Given the description of an element on the screen output the (x, y) to click on. 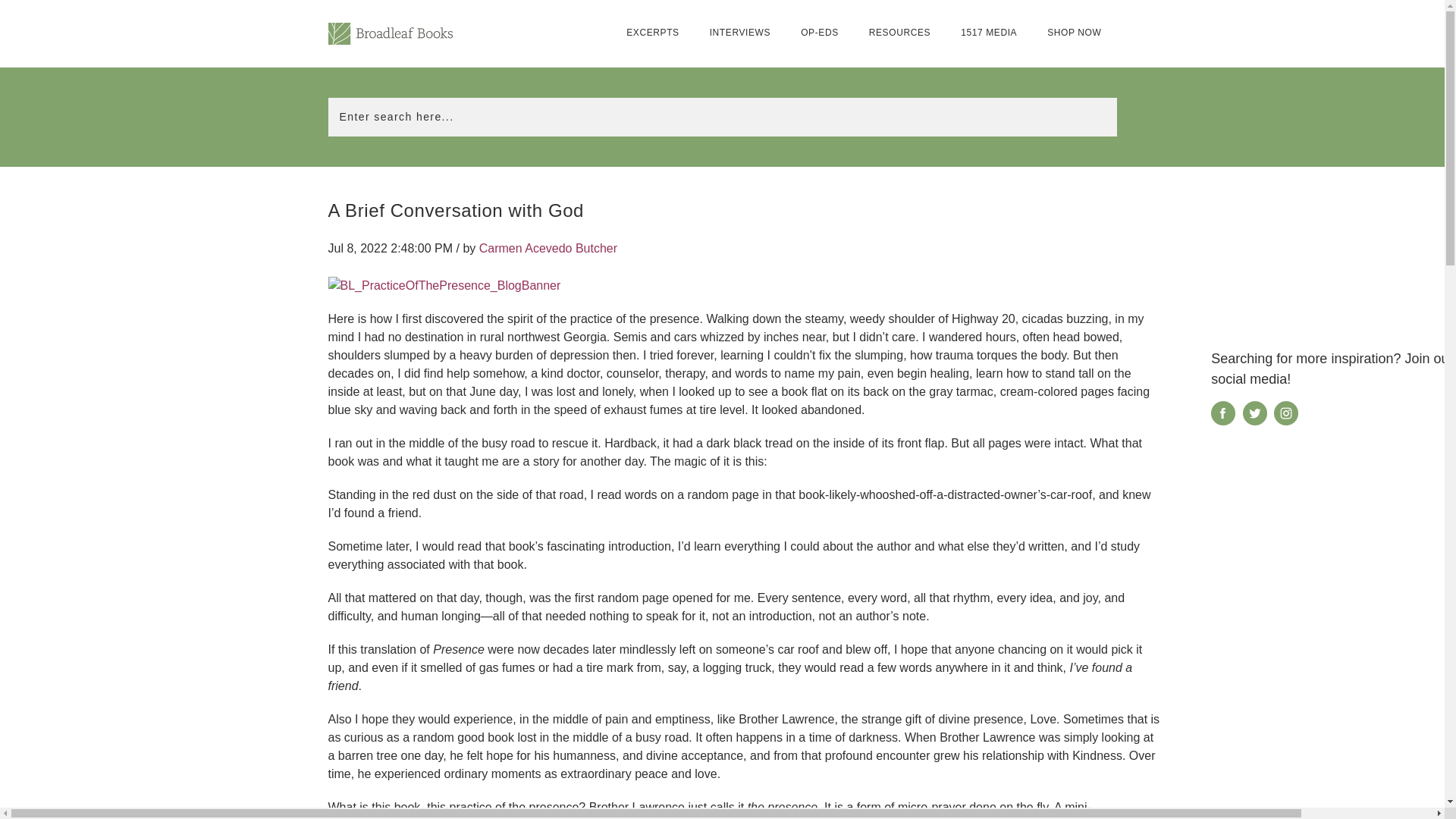
EXCERPTS (652, 33)
A Brief Conversation with God (455, 209)
INTERVIEWS (740, 33)
1517 MEDIA (988, 33)
RESOURCES (898, 33)
OP-EDS (819, 33)
Carmen Acevedo Butcher (548, 247)
SHOP NOW (1074, 33)
